Given the description of an element on the screen output the (x, y) to click on. 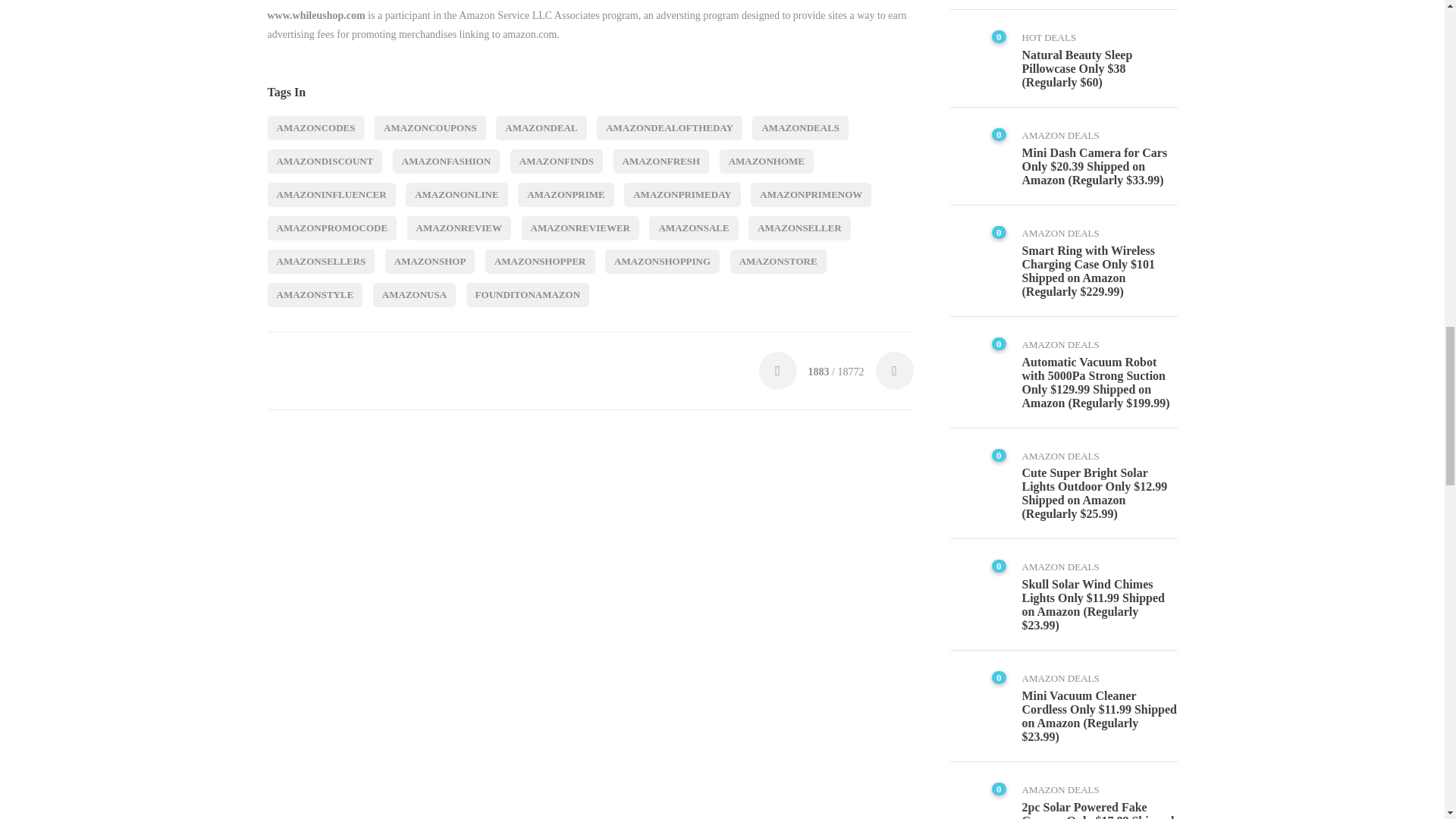
AMAZONCODES (315, 128)
